Given the description of an element on the screen output the (x, y) to click on. 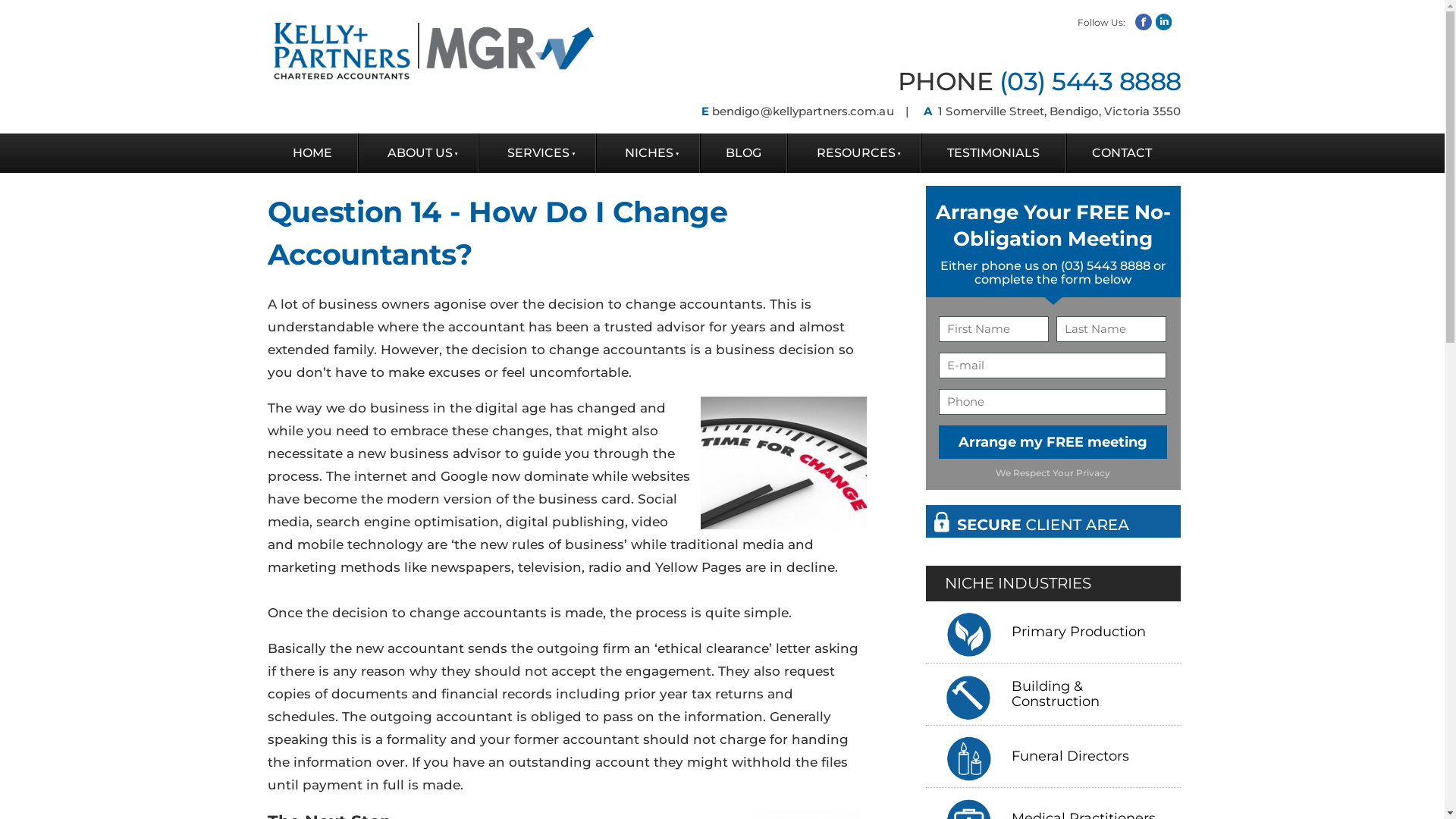
BLOG Element type: text (743, 152)
HOME Element type: text (311, 152)
NICHES Element type: text (647, 152)
ABOUT US Element type: text (417, 152)
TESTIMONIALS Element type: text (993, 152)
CONTACT Element type: text (1121, 152)
Arrange my FREE meeting Element type: text (1052, 441)
We Respect Your Privacy Element type: text (1052, 472)
Primary Production Element type: text (1082, 631)
RESOURCES Element type: text (853, 152)
Funeral Directors Element type: text (1073, 756)
SERVICES Element type: text (537, 152)
Building & Construction Element type: text (1095, 693)
